Given the description of an element on the screen output the (x, y) to click on. 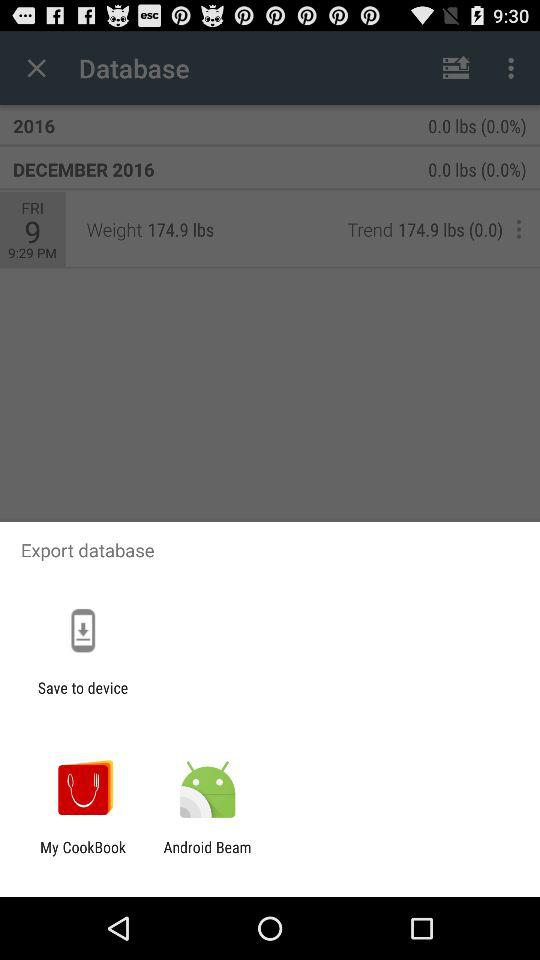
turn on my cookbook app (83, 856)
